Given the description of an element on the screen output the (x, y) to click on. 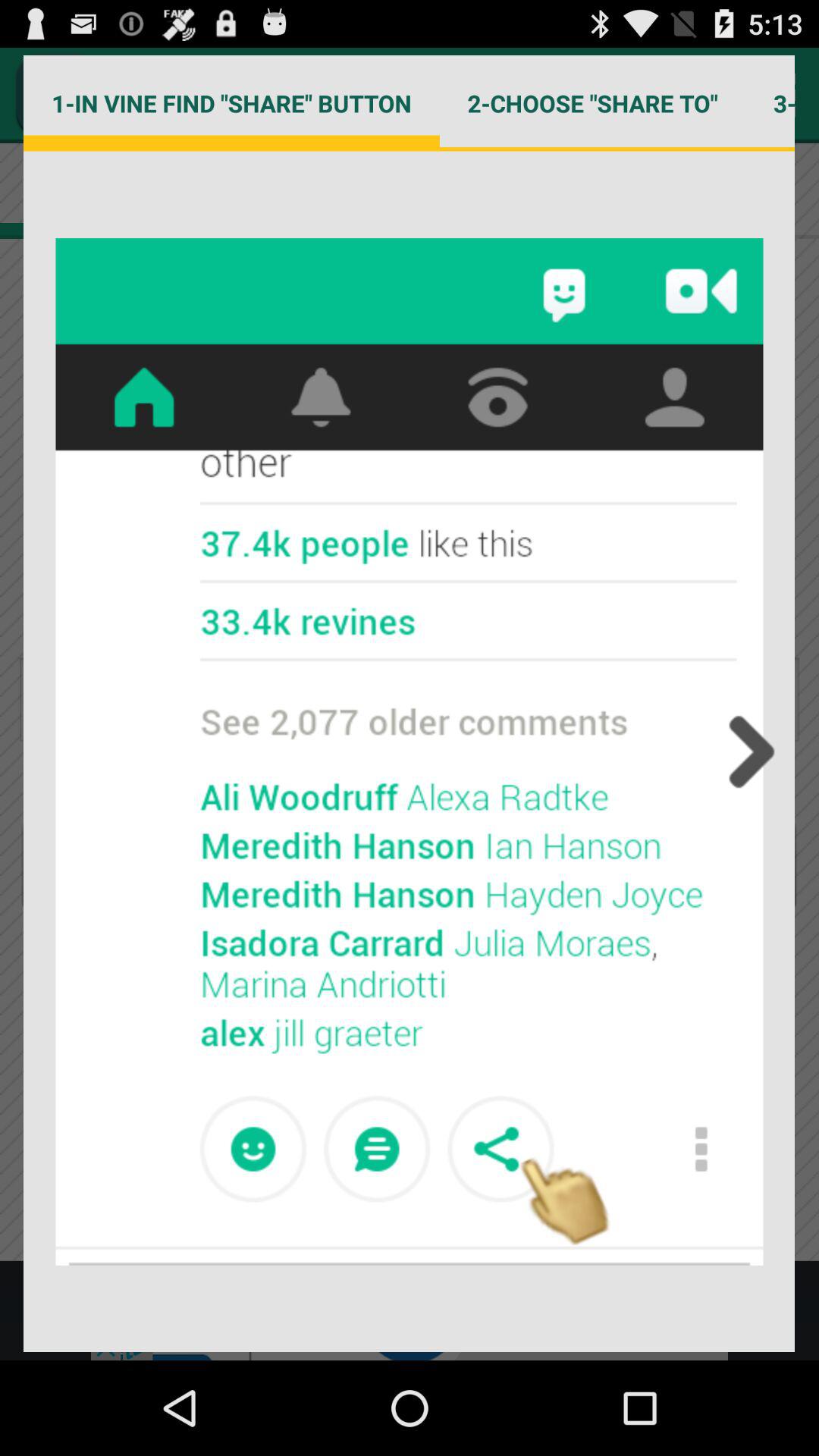
swipe to the 1 in vine icon (231, 103)
